Given the description of an element on the screen output the (x, y) to click on. 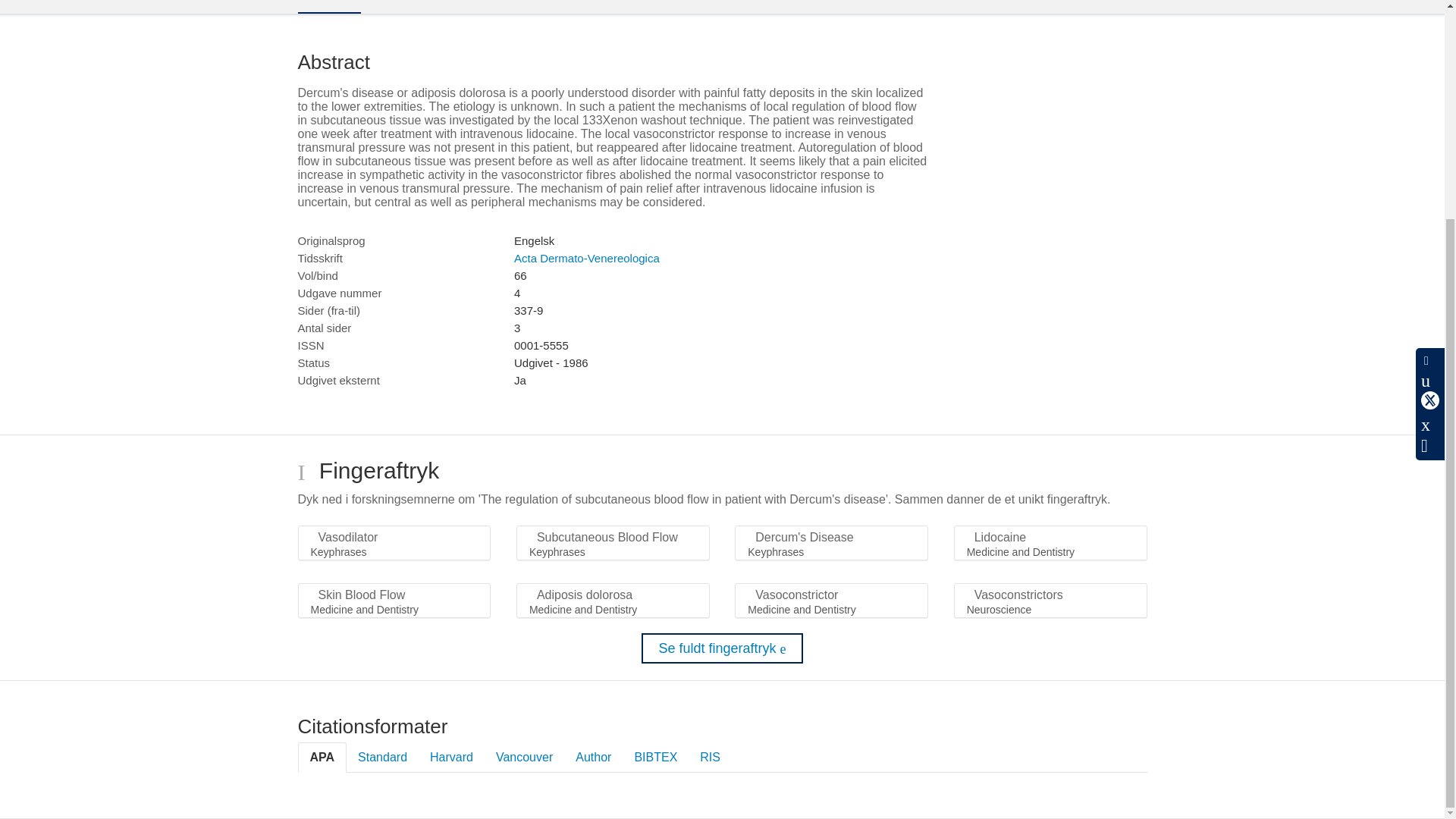
Oversigt (328, 6)
Acta Dermato-Venereologica (586, 257)
Fingeraftryk (417, 6)
Se fuldt fingeraftryk (722, 648)
